Given the description of an element on the screen output the (x, y) to click on. 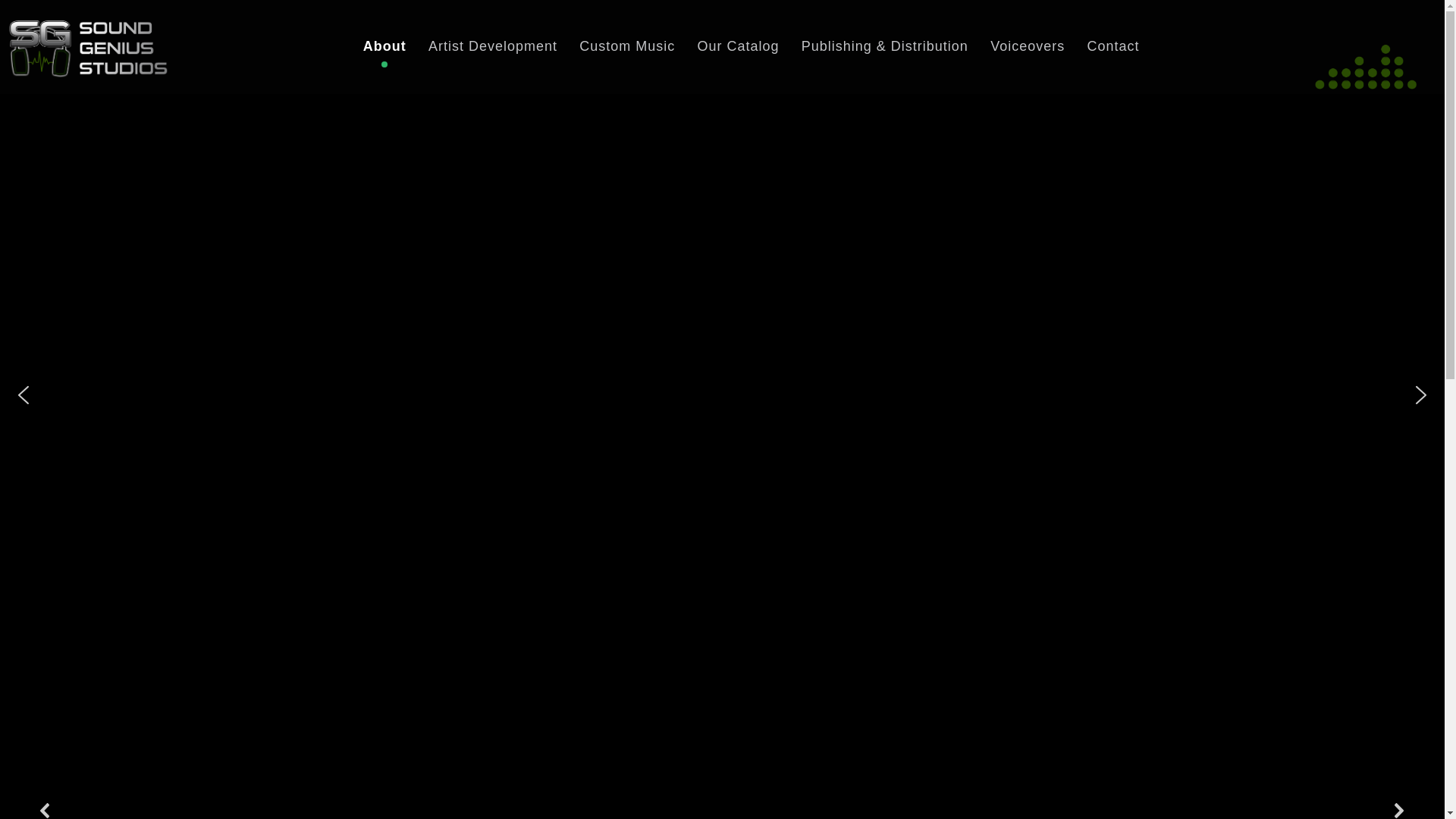
About (383, 46)
Contact (1112, 46)
Custom Music (627, 46)
Voiceovers (1027, 46)
Artist Development (493, 46)
Our Catalog (738, 46)
